Given the description of an element on the screen output the (x, y) to click on. 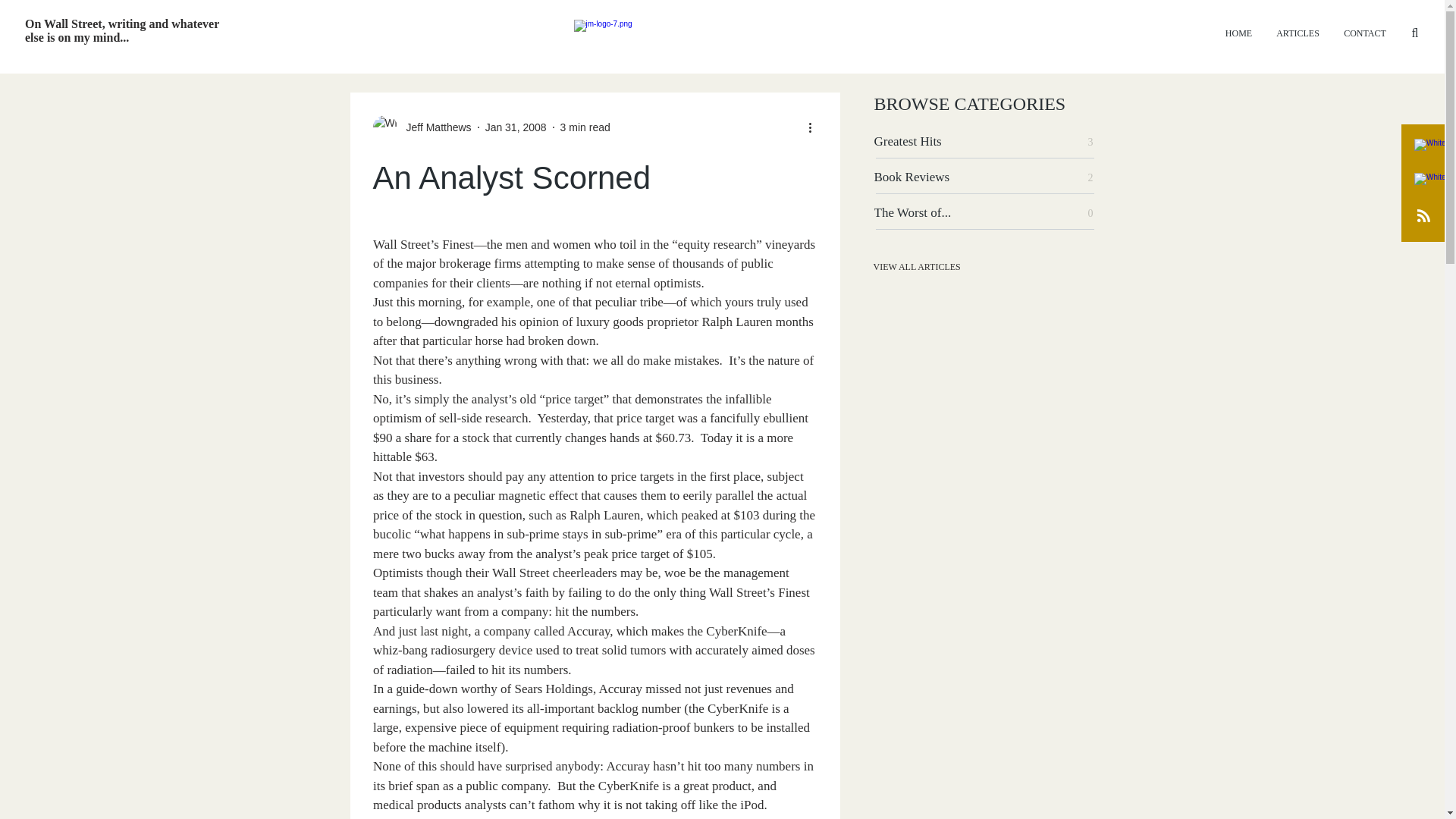
Jeff Matthews (434, 127)
The Worst of... (927, 213)
CONTACT (1364, 33)
VIEW ALL ARTICLES (927, 266)
Greatest Hits (927, 141)
HOME (1237, 33)
Book Reviews (927, 177)
Jan 31, 2008 (515, 127)
3 min read (585, 127)
ARTICLES (1297, 33)
